Given the description of an element on the screen output the (x, y) to click on. 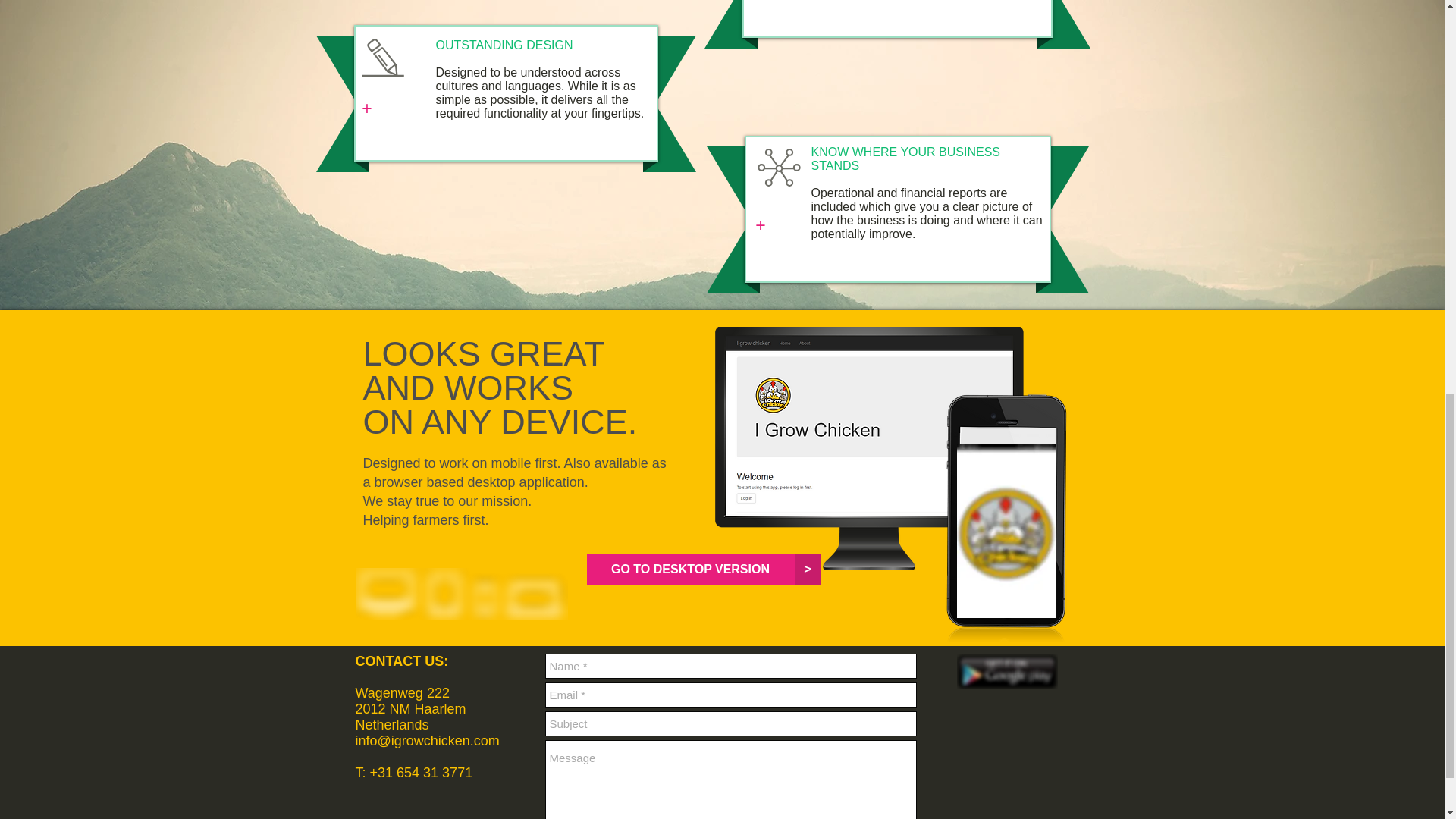
GO TO DESKTOP VERSION (690, 569)
